Given the description of an element on the screen output the (x, y) to click on. 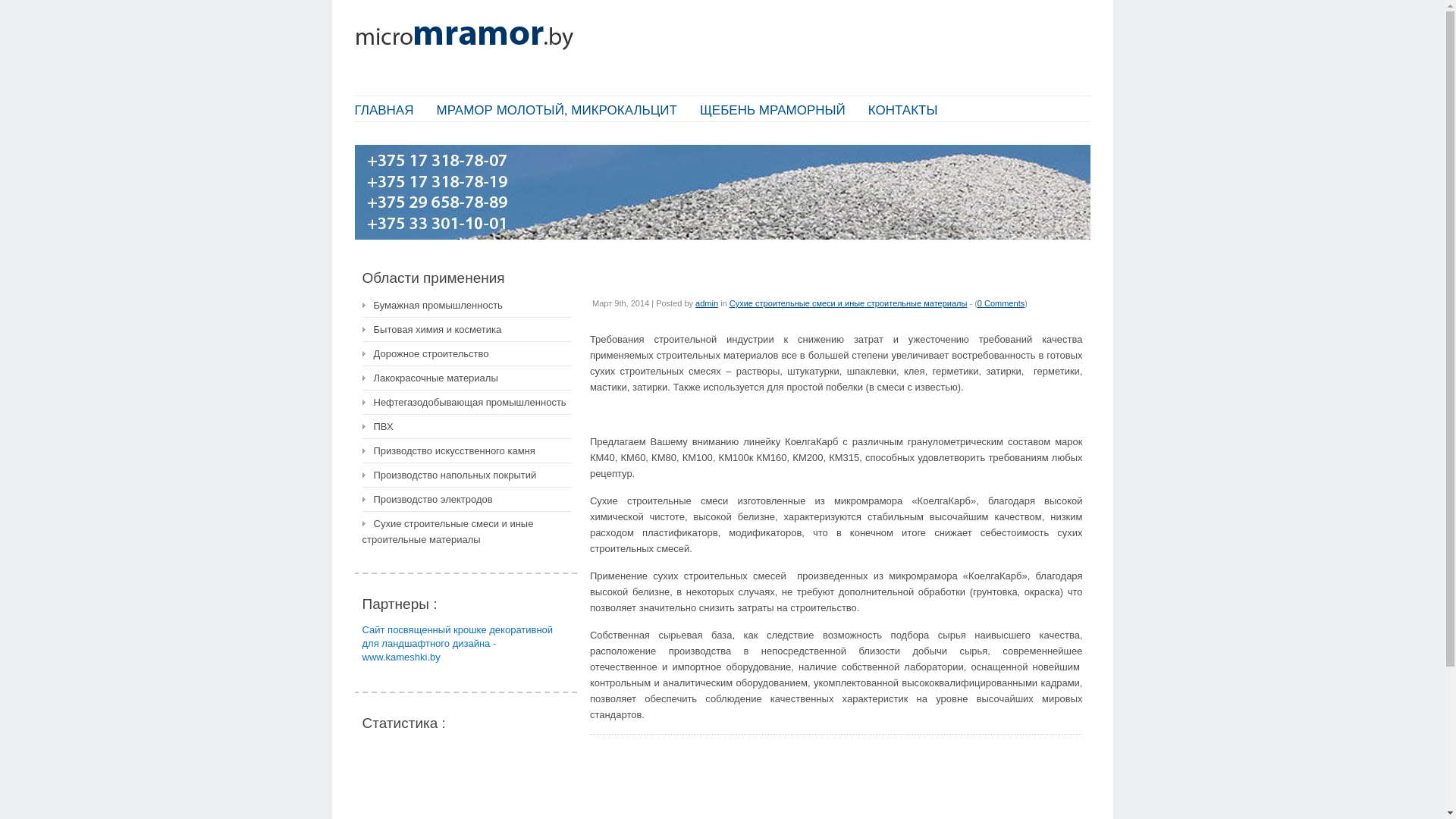
0 Comments Element type: text (1000, 302)
admin Element type: text (706, 302)
